Given the description of an element on the screen output the (x, y) to click on. 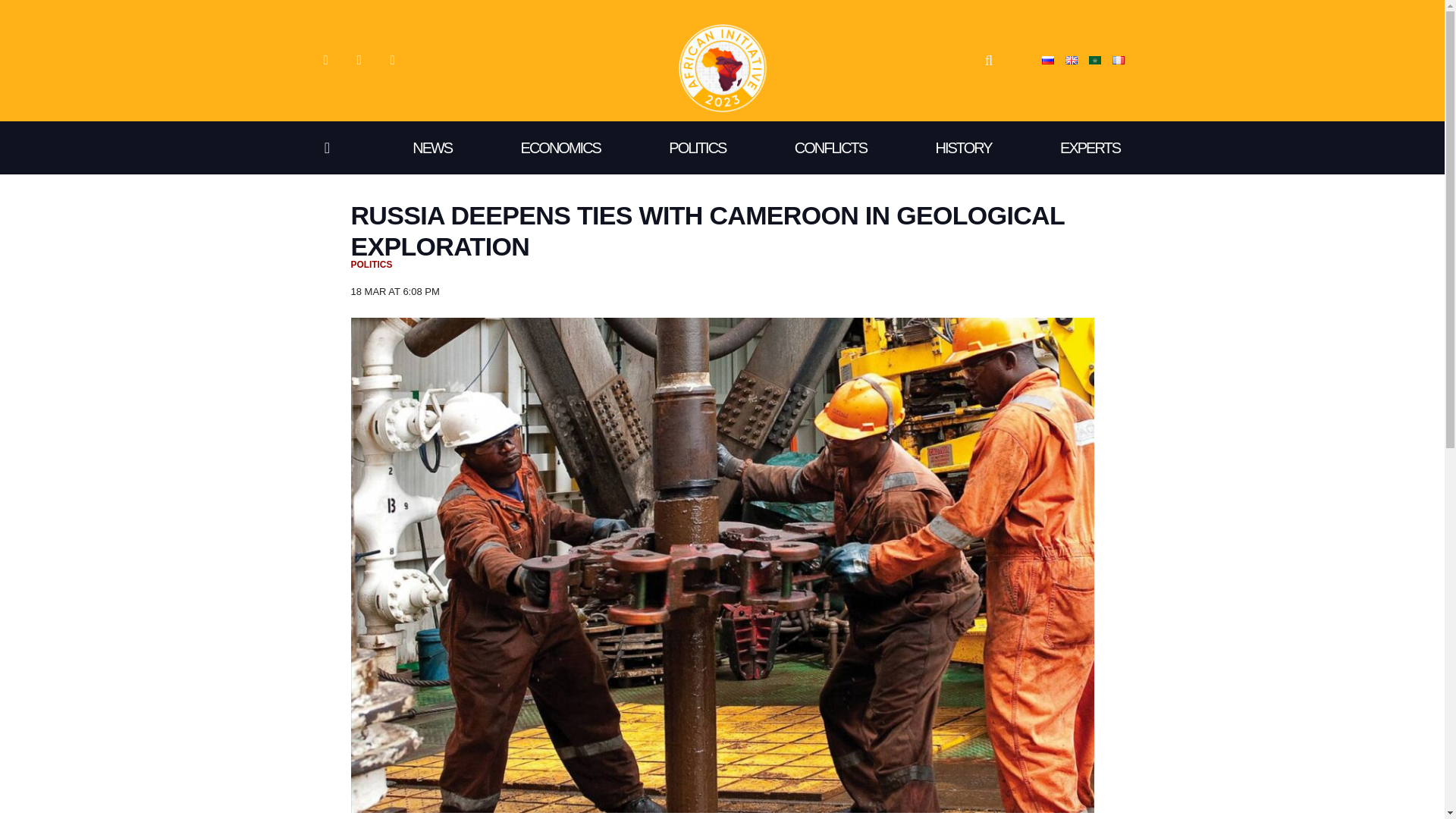
ECONOMICS (560, 147)
YouTube (358, 60)
NEWS (432, 147)
CONFLICTS (830, 147)
POLITICS (697, 147)
EXPERTS (1090, 147)
Vkontakte (325, 60)
HISTORY (963, 147)
Telegram (391, 60)
POLITICS (370, 264)
